Given the description of an element on the screen output the (x, y) to click on. 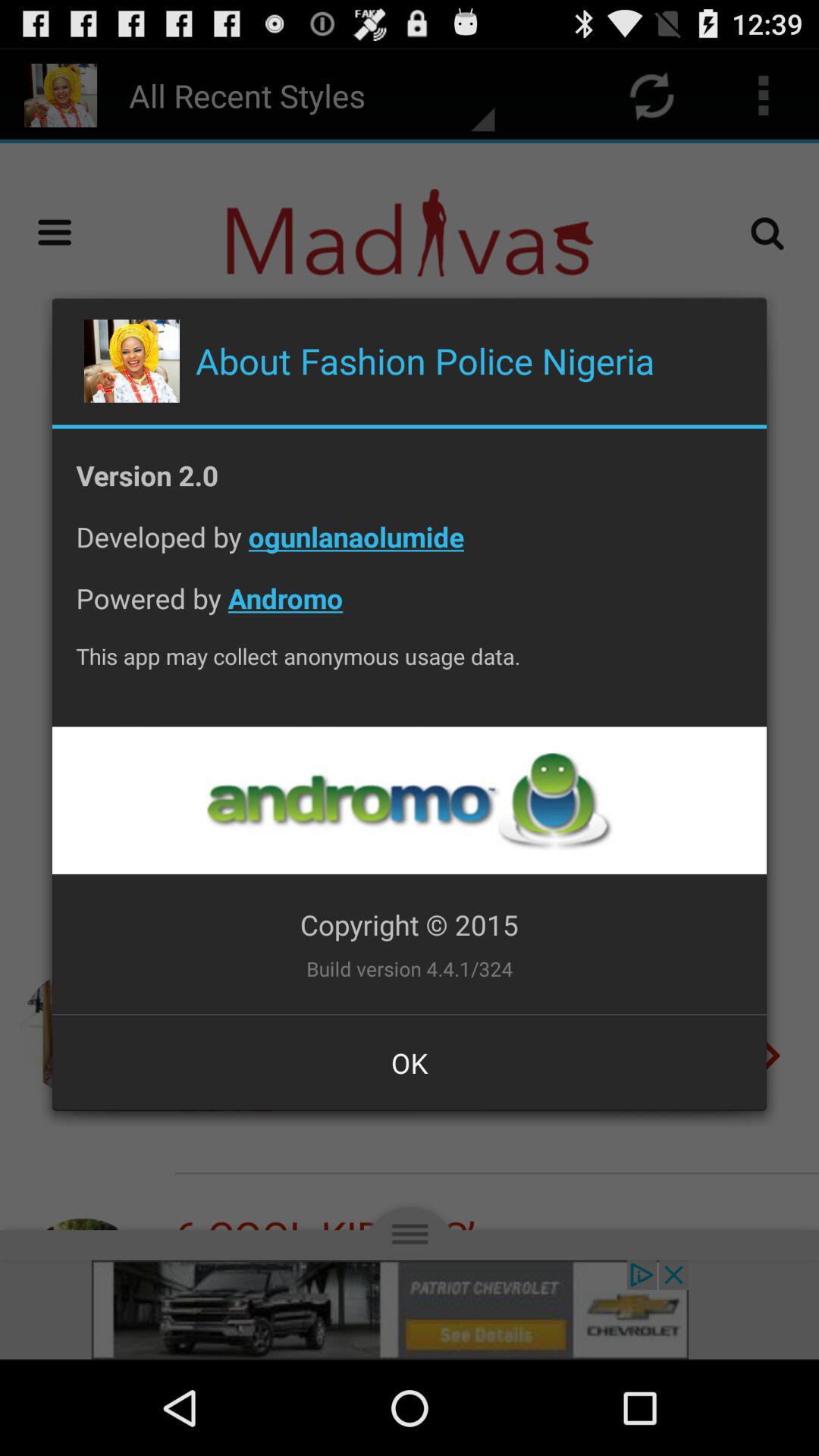
jump until developed by ogunlanaolumide app (409, 548)
